Given the description of an element on the screen output the (x, y) to click on. 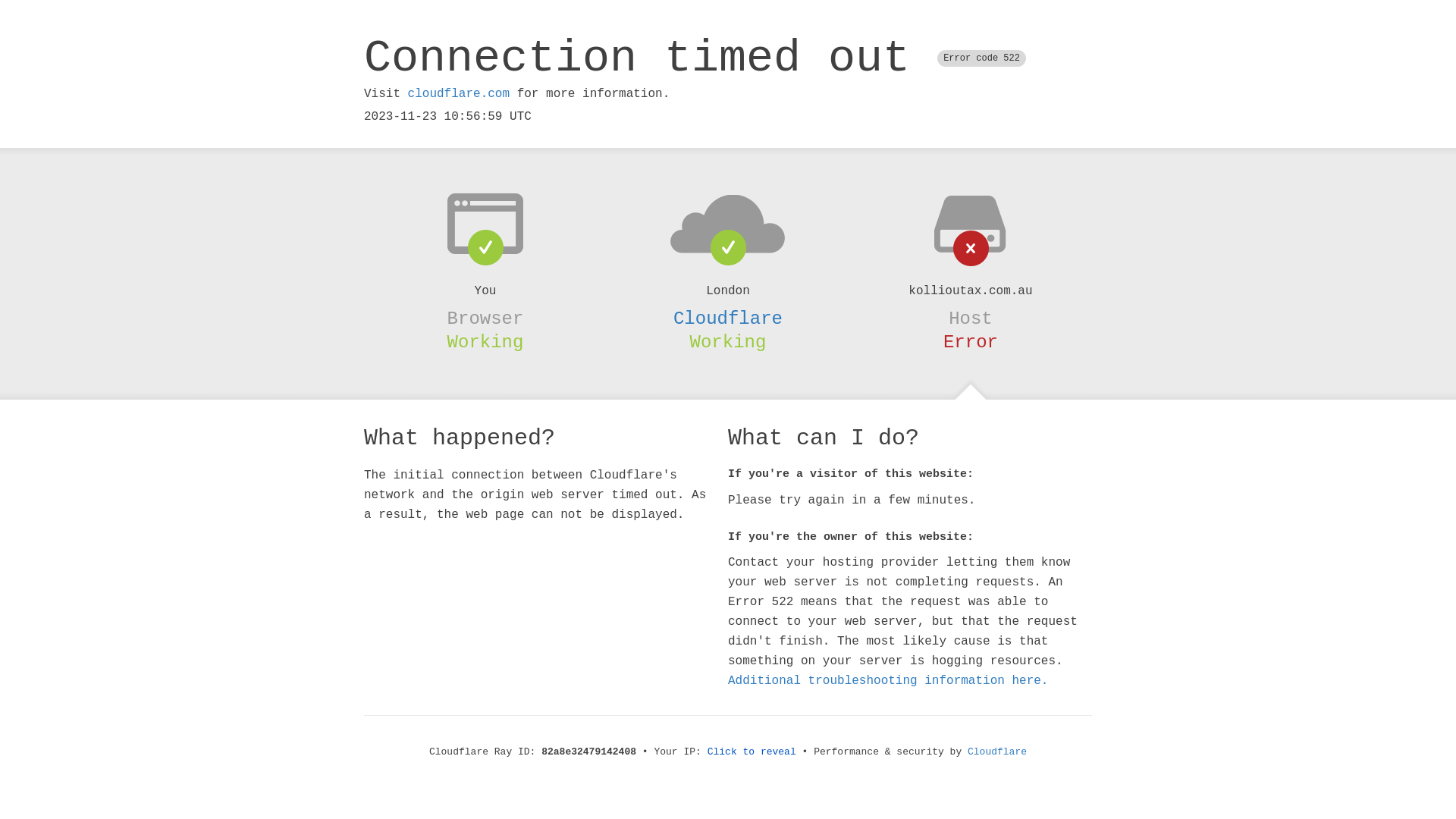
Cloudflare Element type: text (996, 751)
Additional troubleshooting information here. Element type: text (888, 680)
Click to reveal Element type: text (751, 751)
cloudflare.com Element type: text (458, 93)
Cloudflare Element type: text (727, 318)
